Given the description of an element on the screen output the (x, y) to click on. 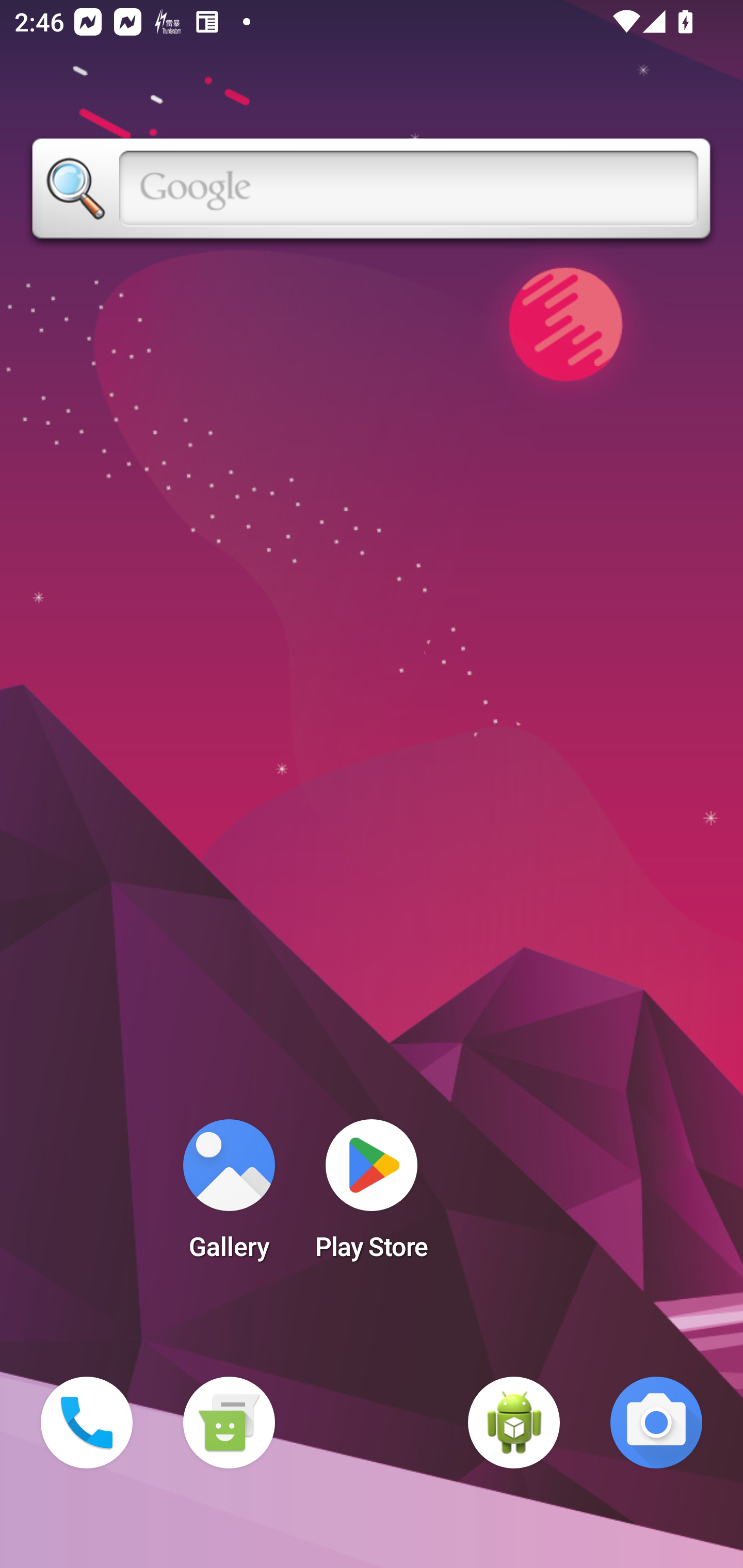
Gallery (228, 1195)
Play Store (371, 1195)
Phone (86, 1422)
Messaging (228, 1422)
WebView Browser Tester (513, 1422)
Camera (656, 1422)
